Given the description of an element on the screen output the (x, y) to click on. 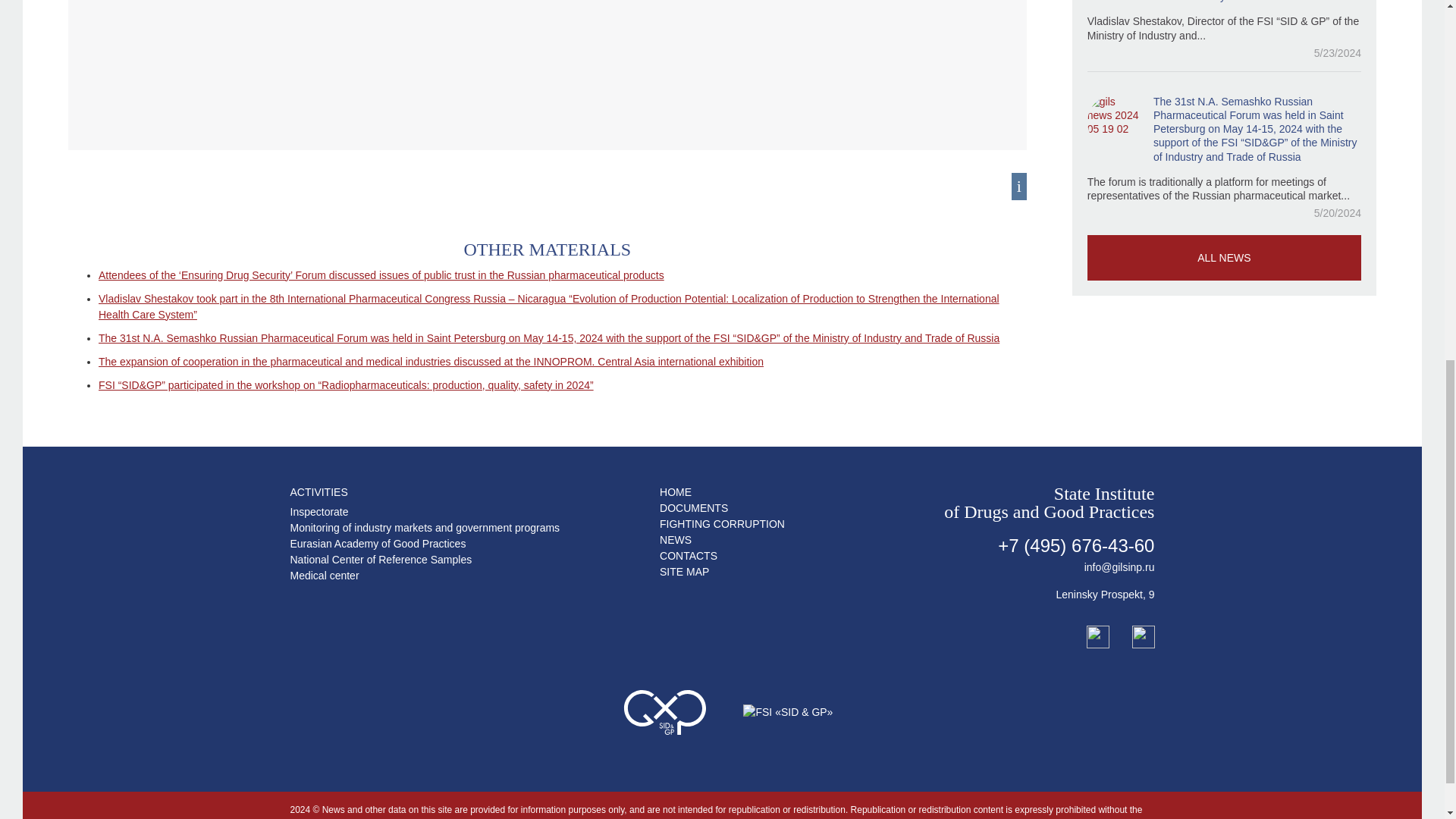
YouTube player (547, 61)
